Given the description of an element on the screen output the (x, y) to click on. 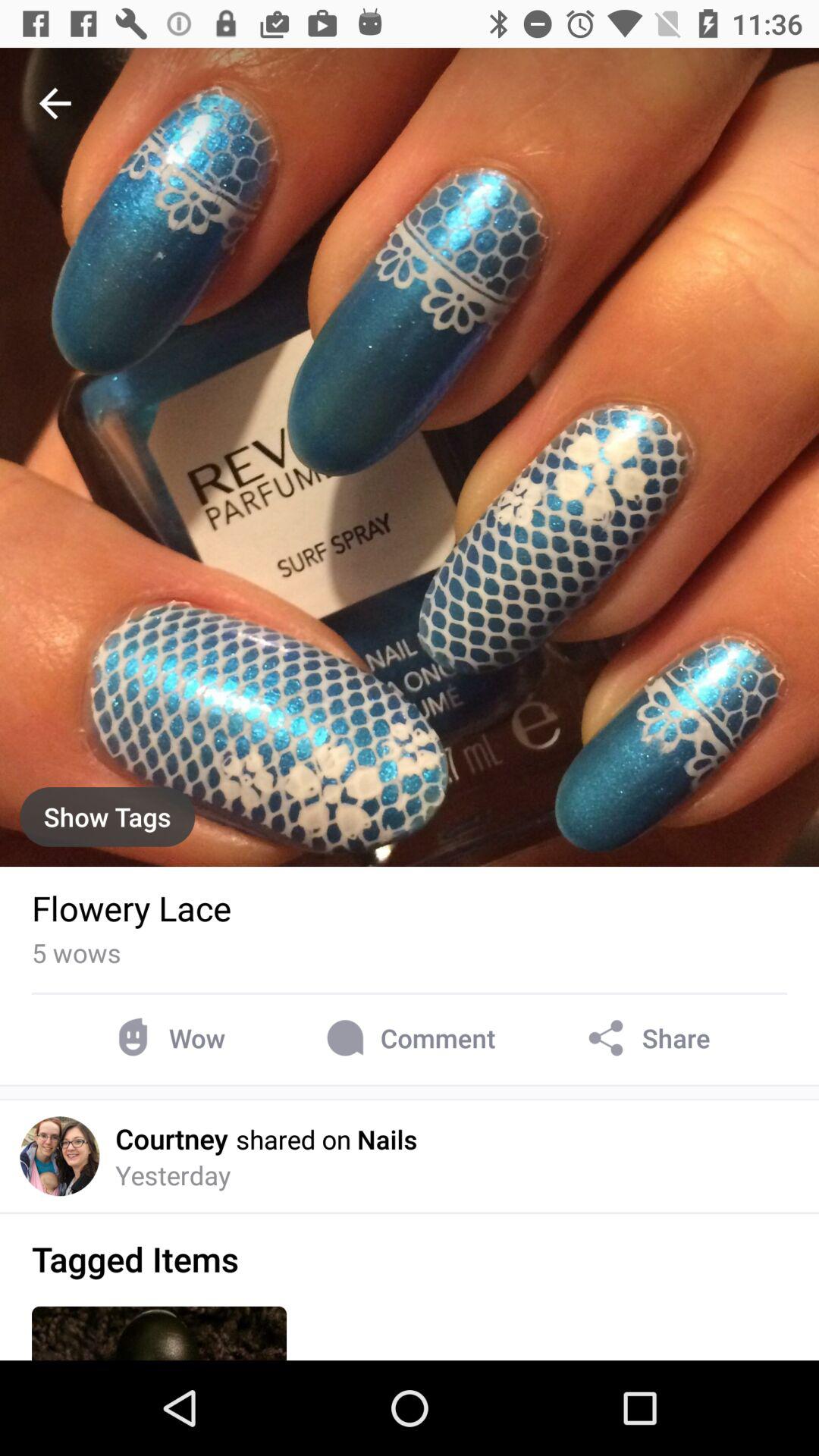
turn on the flowery lace item (131, 907)
